Given the description of an element on the screen output the (x, y) to click on. 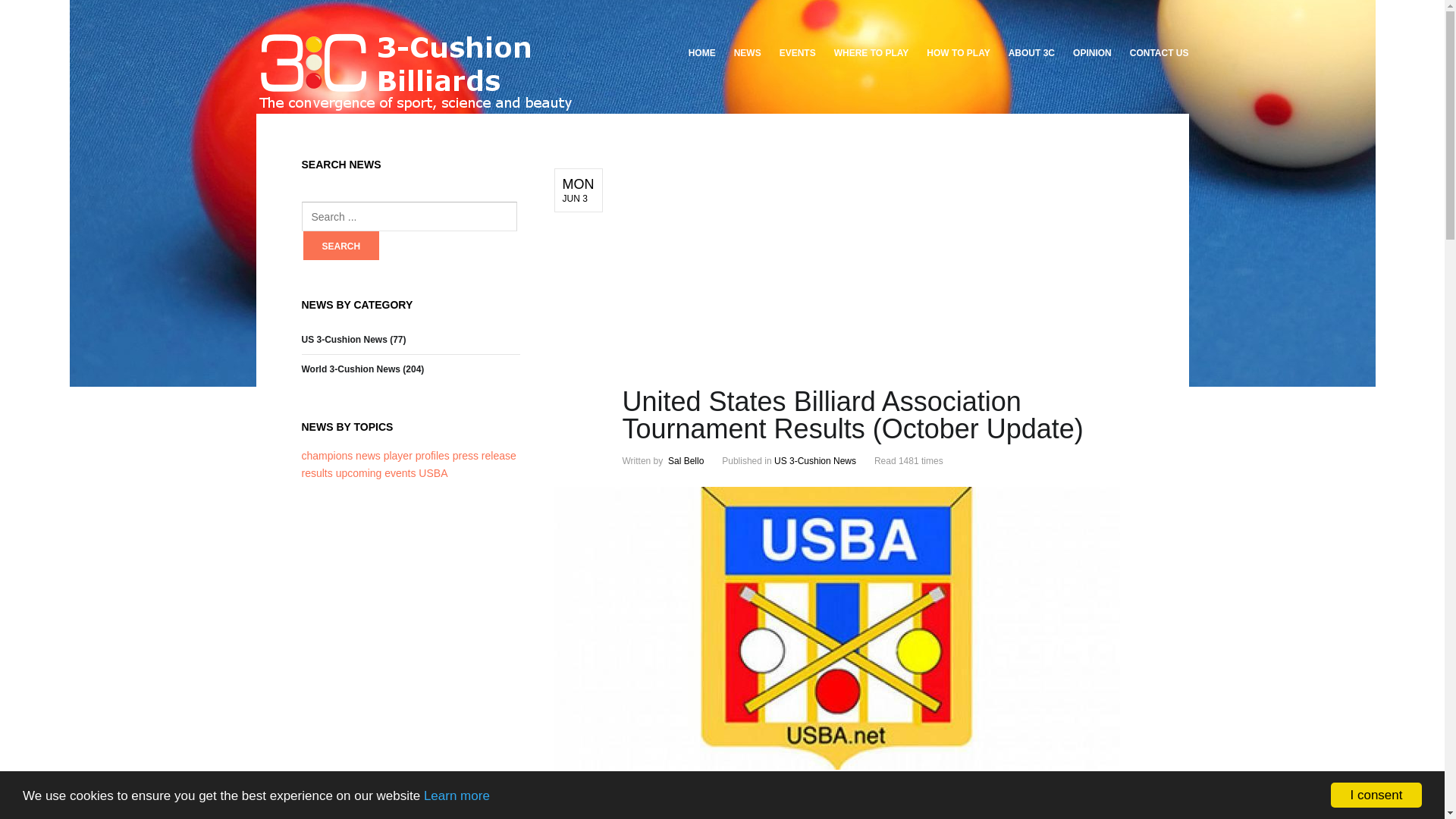
US 3-Cushion News Element type: text (815, 460)
news Element type: text (369, 455)
US 3-Cushion News (77) Element type: text (353, 339)
NEWS Element type: text (747, 52)
I consent Element type: text (1375, 794)
WHERE TO PLAY Element type: text (871, 52)
press release Element type: text (484, 455)
EVENTS Element type: text (797, 52)
ABOUT 3C Element type: text (1031, 52)
HOME Element type: text (706, 52)
Sal Bello Element type: text (685, 460)
OPINION Element type: text (1091, 52)
World 3-Cushion News (204) Element type: text (362, 368)
CONTACT US Element type: text (1154, 52)
SEARCH Element type: text (341, 245)
upcoming events Element type: text (377, 473)
USBA Element type: text (432, 473)
champions Element type: text (328, 455)
player profiles Element type: text (417, 455)
Click to preview image Element type: hover (836, 765)
HOW TO PLAY Element type: text (957, 52)
Advertisement Element type: hover (881, 274)
results Element type: text (318, 473)
Learn more Element type: text (456, 795)
